Given the description of an element on the screen output the (x, y) to click on. 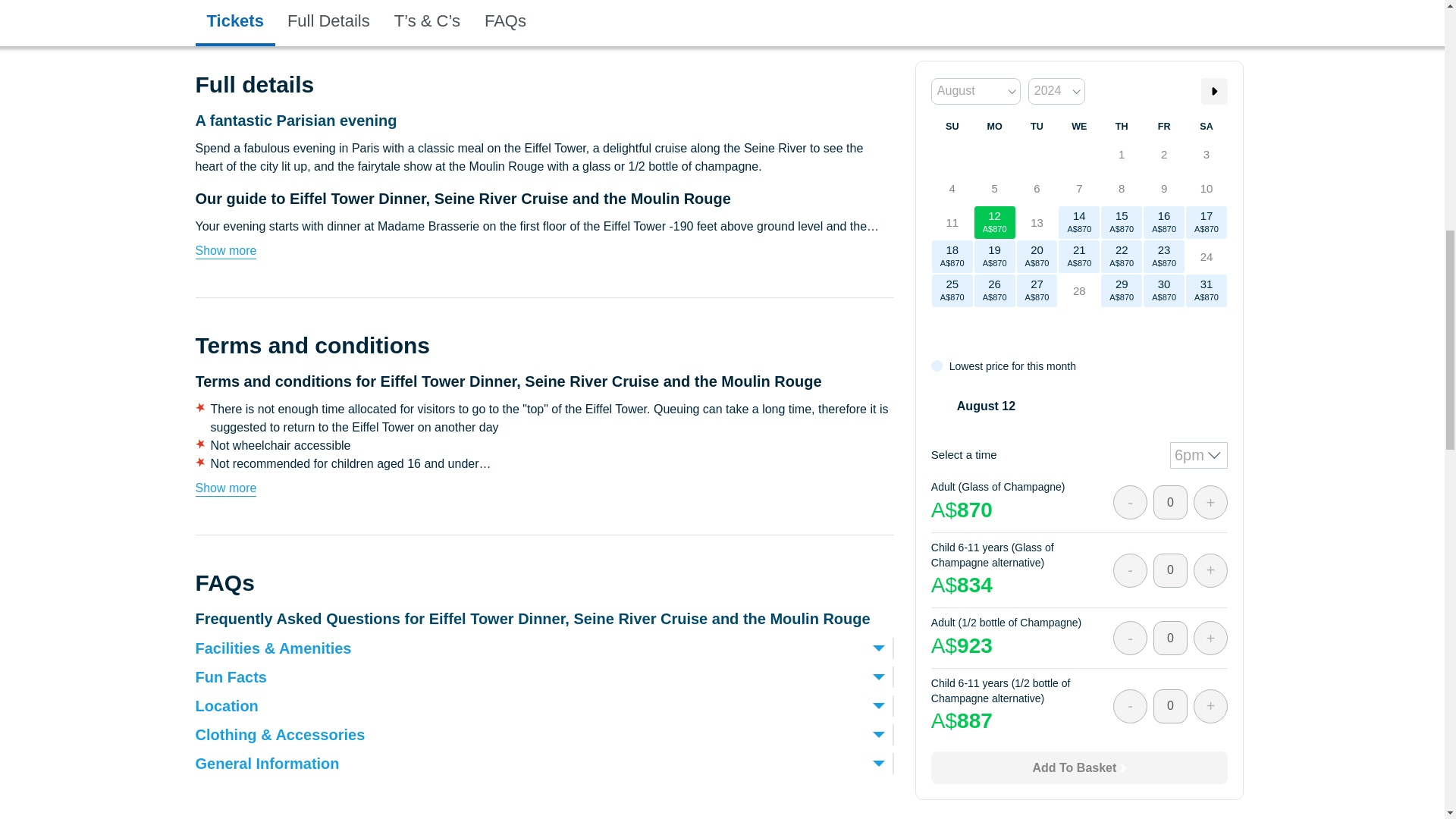
0 (1170, 341)
- (1130, 341)
0 (1170, 205)
0 (1170, 273)
- (1130, 137)
0 (1170, 137)
- (1130, 273)
- (1130, 205)
